Given the description of an element on the screen output the (x, y) to click on. 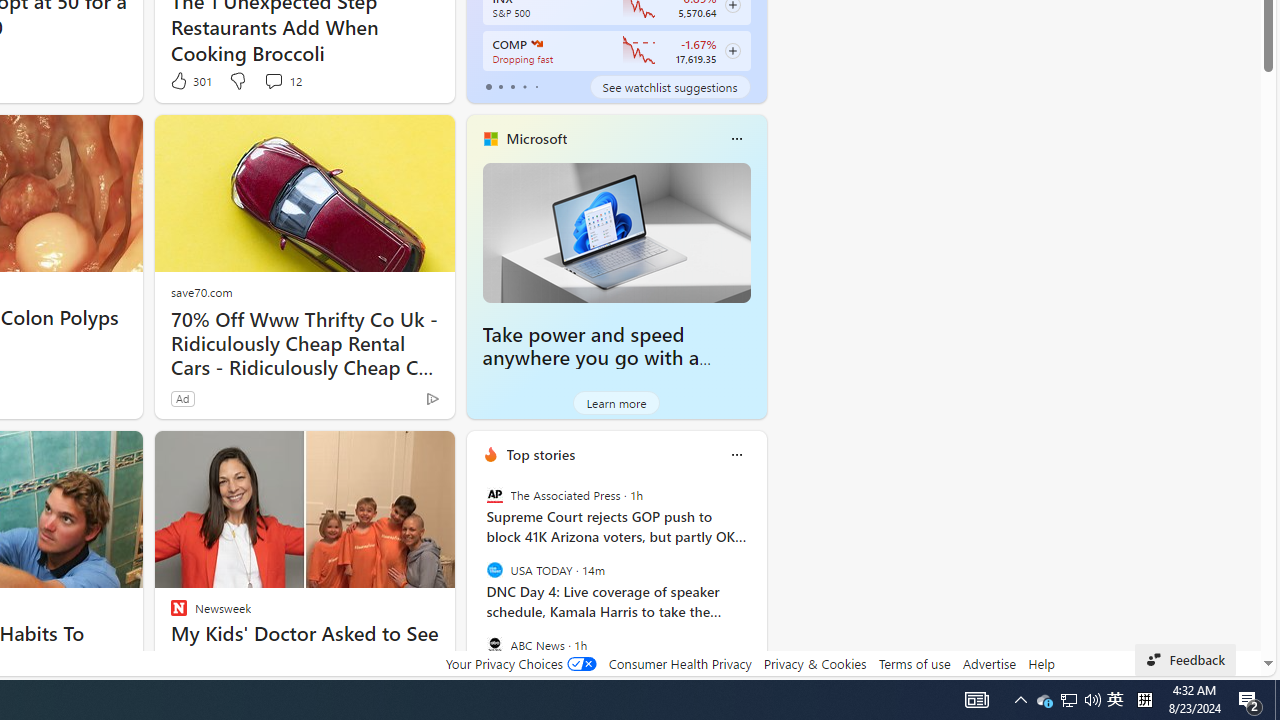
USA TODAY (494, 570)
Privacy & Cookies (814, 663)
Microsoft (536, 139)
Class: icon-img (736, 454)
See watchlist suggestions (669, 86)
previous (476, 583)
ABC News (494, 644)
301 Like (190, 80)
next (756, 583)
Your Privacy Choices (520, 663)
Hide this story (393, 454)
